Given the description of an element on the screen output the (x, y) to click on. 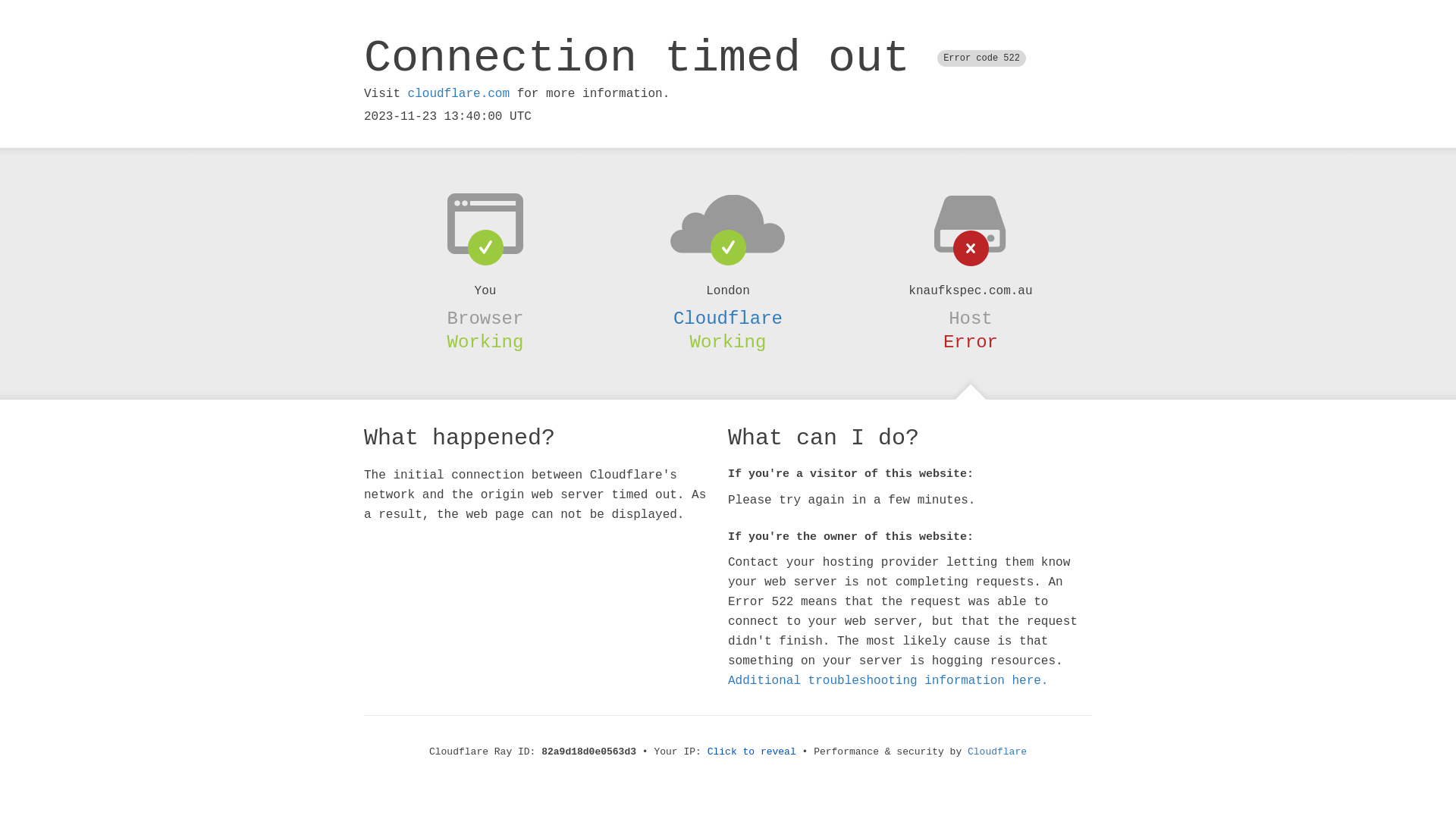
Click to reveal Element type: text (751, 751)
Additional troubleshooting information here. Element type: text (888, 680)
Cloudflare Element type: text (996, 751)
Cloudflare Element type: text (727, 318)
cloudflare.com Element type: text (458, 93)
